Given the description of an element on the screen output the (x, y) to click on. 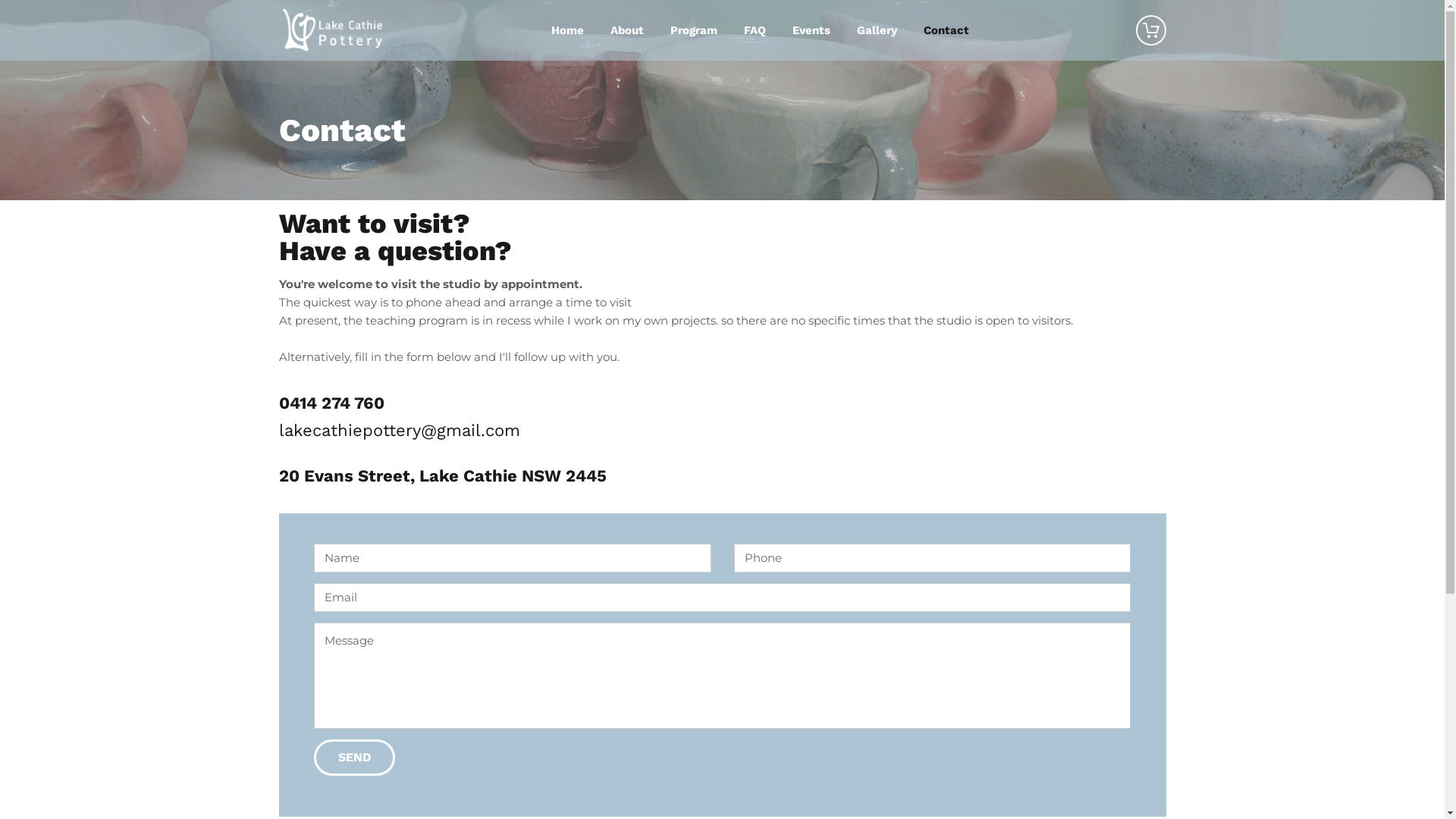
Gallery Element type: text (876, 29)
FAQ Element type: text (754, 29)
Program Element type: text (694, 29)
lakecathiepottery@gmail.com Element type: text (399, 430)
20 Evans Street, Lake Cathie NSW 2445 Element type: text (442, 476)
Home Element type: text (567, 29)
About Element type: text (626, 29)
Events Element type: text (810, 29)
0414 274 760 Element type: text (331, 403)
SEND Element type: text (354, 757)
Contact Element type: text (946, 29)
